Given the description of an element on the screen output the (x, y) to click on. 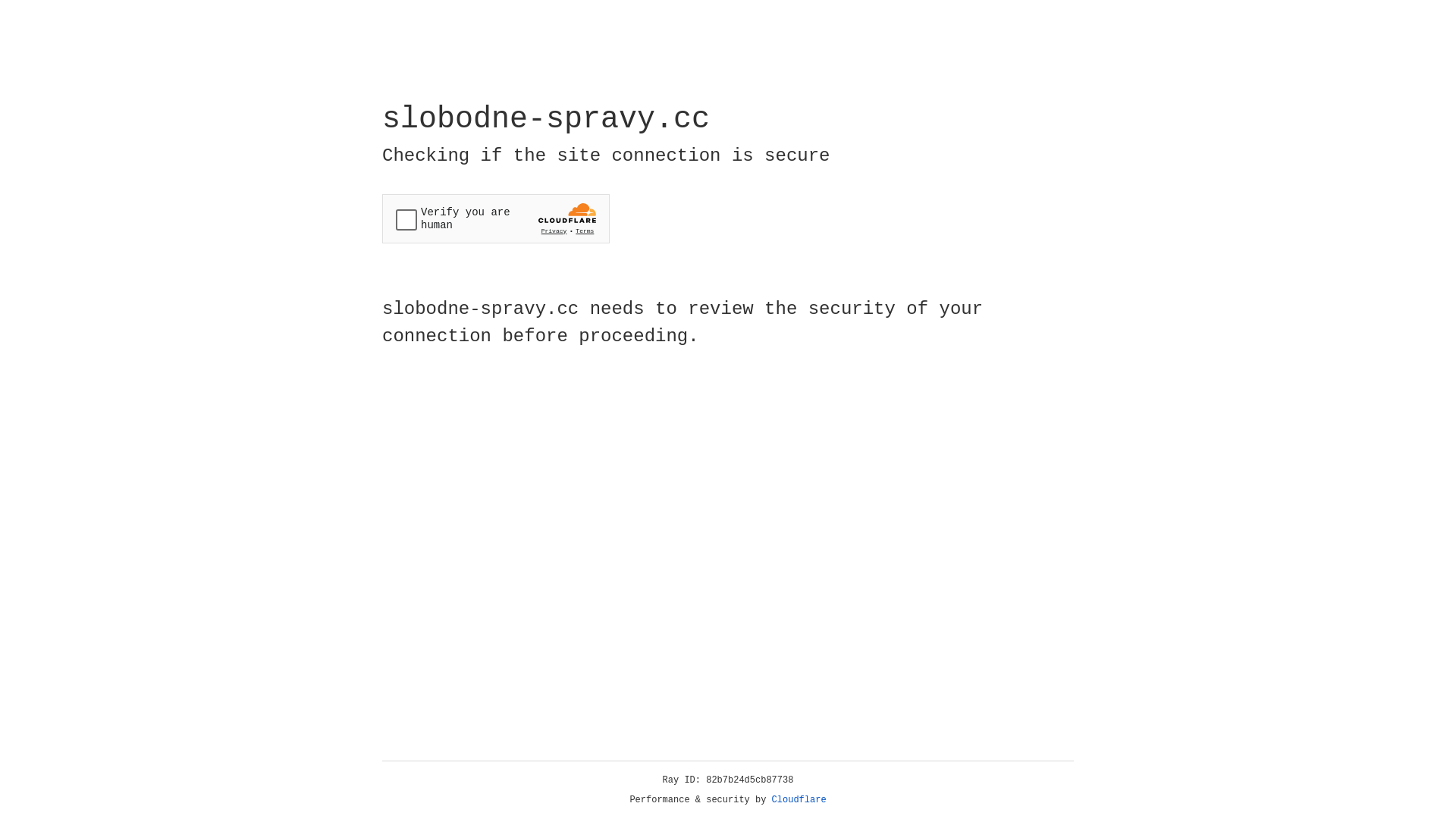
Widget containing a Cloudflare security challenge Element type: hover (495, 218)
Cloudflare Element type: text (798, 799)
